Given the description of an element on the screen output the (x, y) to click on. 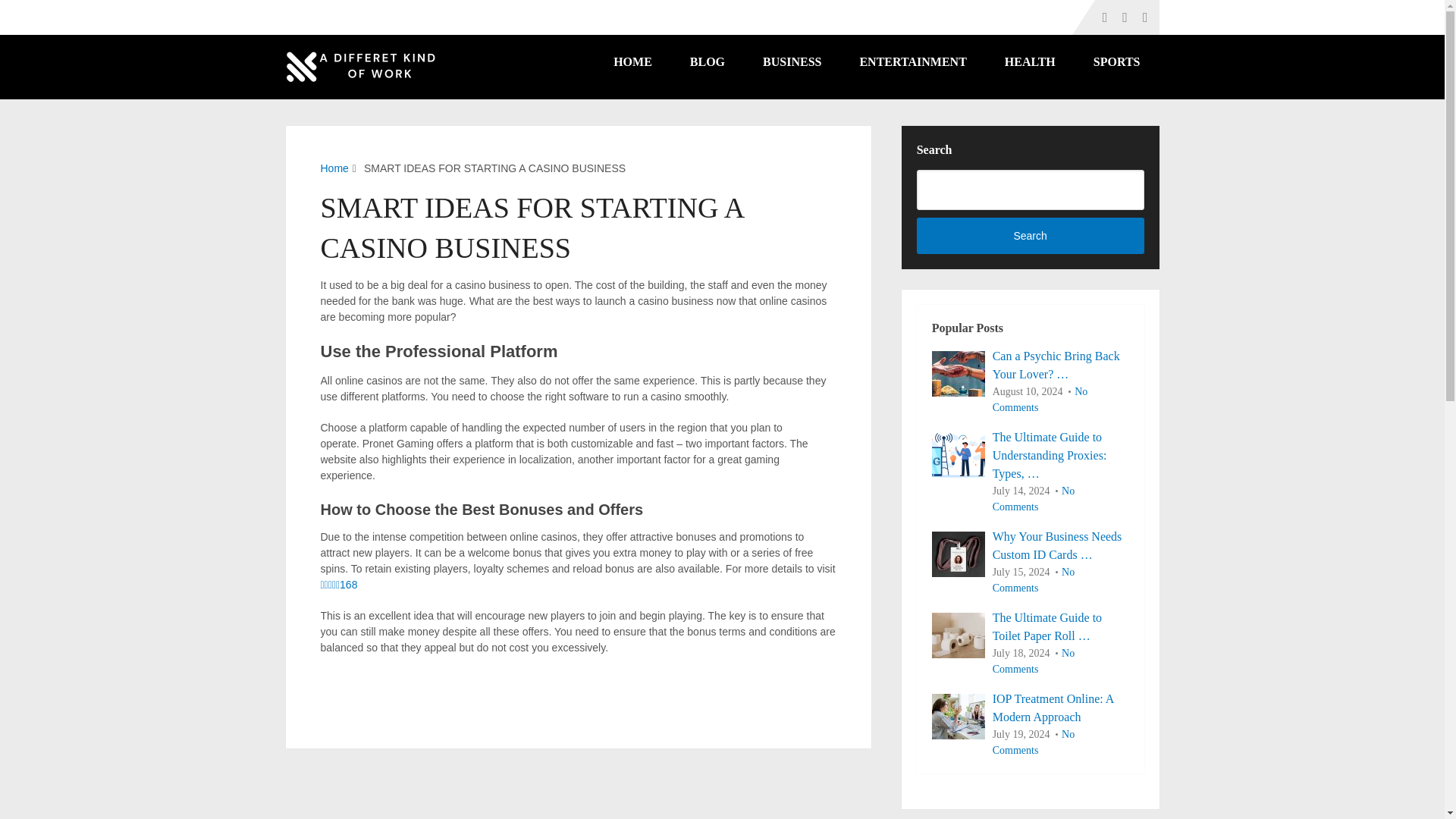
ENTERTAINMENT (912, 62)
Search (1030, 235)
BLOG (707, 62)
SPORTS (1116, 62)
BUSINESS (792, 62)
Why Your Business Needs Custom ID Cards Right Now (1030, 545)
Why Your Business Needs Custom ID Cards Right Now (958, 554)
HOME (632, 62)
Home (333, 168)
